Given the description of an element on the screen output the (x, y) to click on. 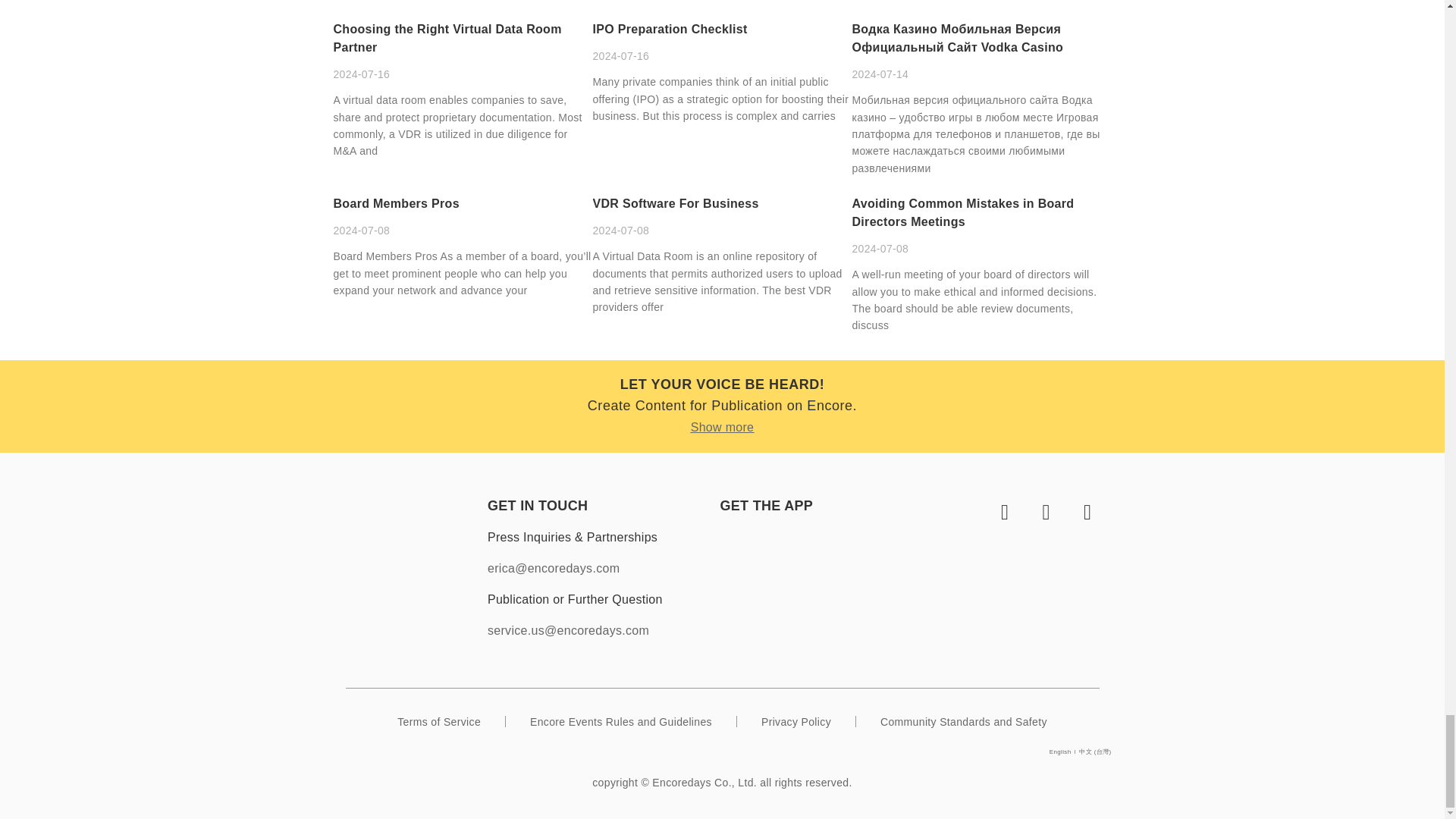
Choosing the Right Virtual Data Room Partner (447, 38)
